Given the description of an element on the screen output the (x, y) to click on. 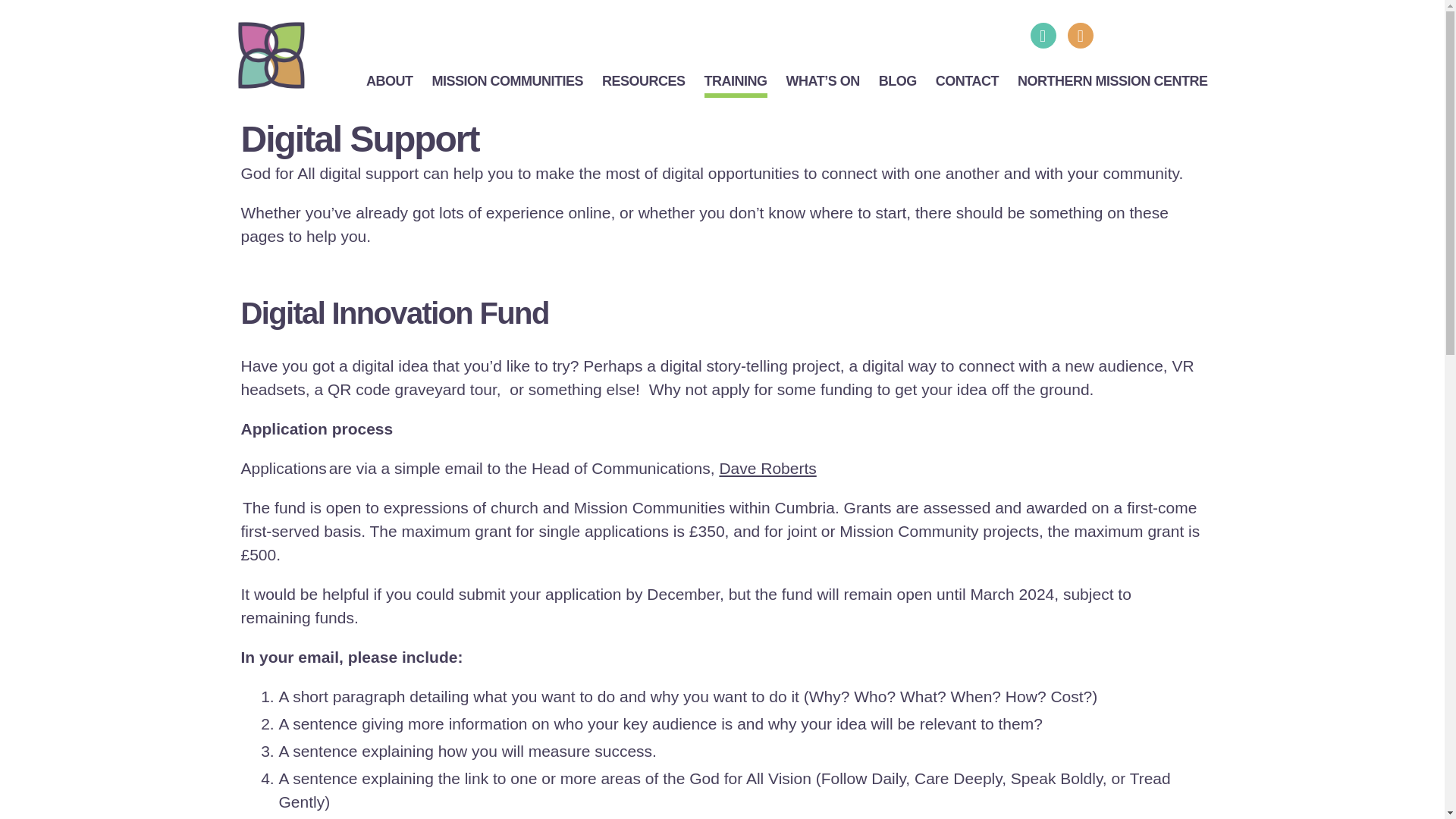
TRAINING (735, 81)
MISSION COMMUNITIES (507, 81)
ABOUT (389, 81)
BLOG (898, 81)
NORTHERN MISSION CENTRE (1112, 81)
RESOURCES (643, 81)
CONTACT (967, 81)
